Given the description of an element on the screen output the (x, y) to click on. 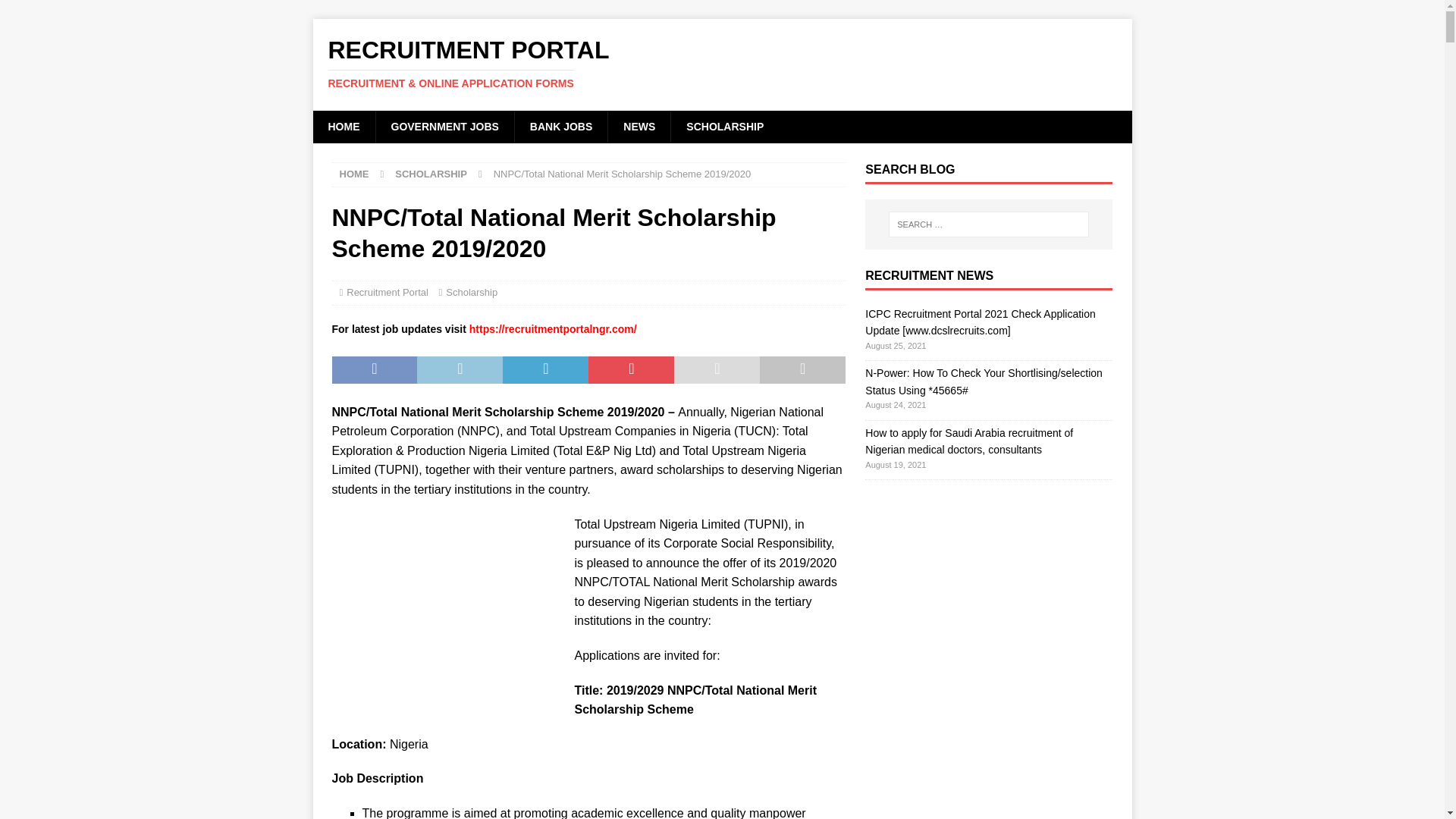
HOME (343, 126)
GOVERNMENT JOBS (443, 126)
NEWS (638, 126)
BANK JOBS (560, 126)
HOME (354, 173)
Advertisement (445, 609)
SCHOLARSHIP (723, 126)
Recruitment Portal (387, 292)
Scholarship (471, 292)
SCHOLARSHIP (430, 173)
